Given the description of an element on the screen output the (x, y) to click on. 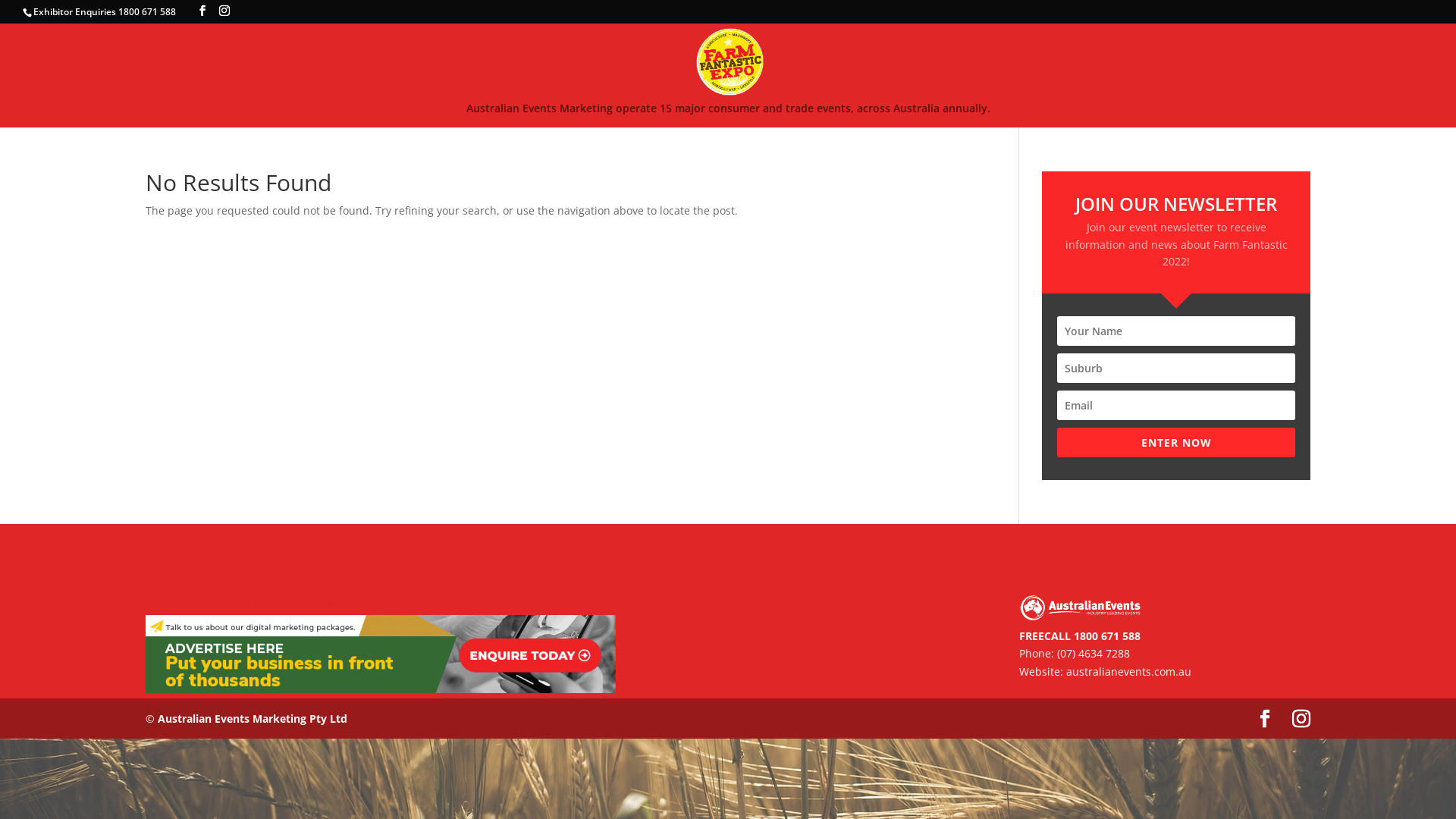
(07) 4634 7288 Element type: text (1093, 653)
australianevents.com.au Element type: text (1128, 671)
ENTER NOW Element type: text (1176, 442)
Australian Events Marketing Pty Ltd Element type: text (252, 718)
1800 671 588 Element type: text (1106, 635)
